Given the description of an element on the screen output the (x, y) to click on. 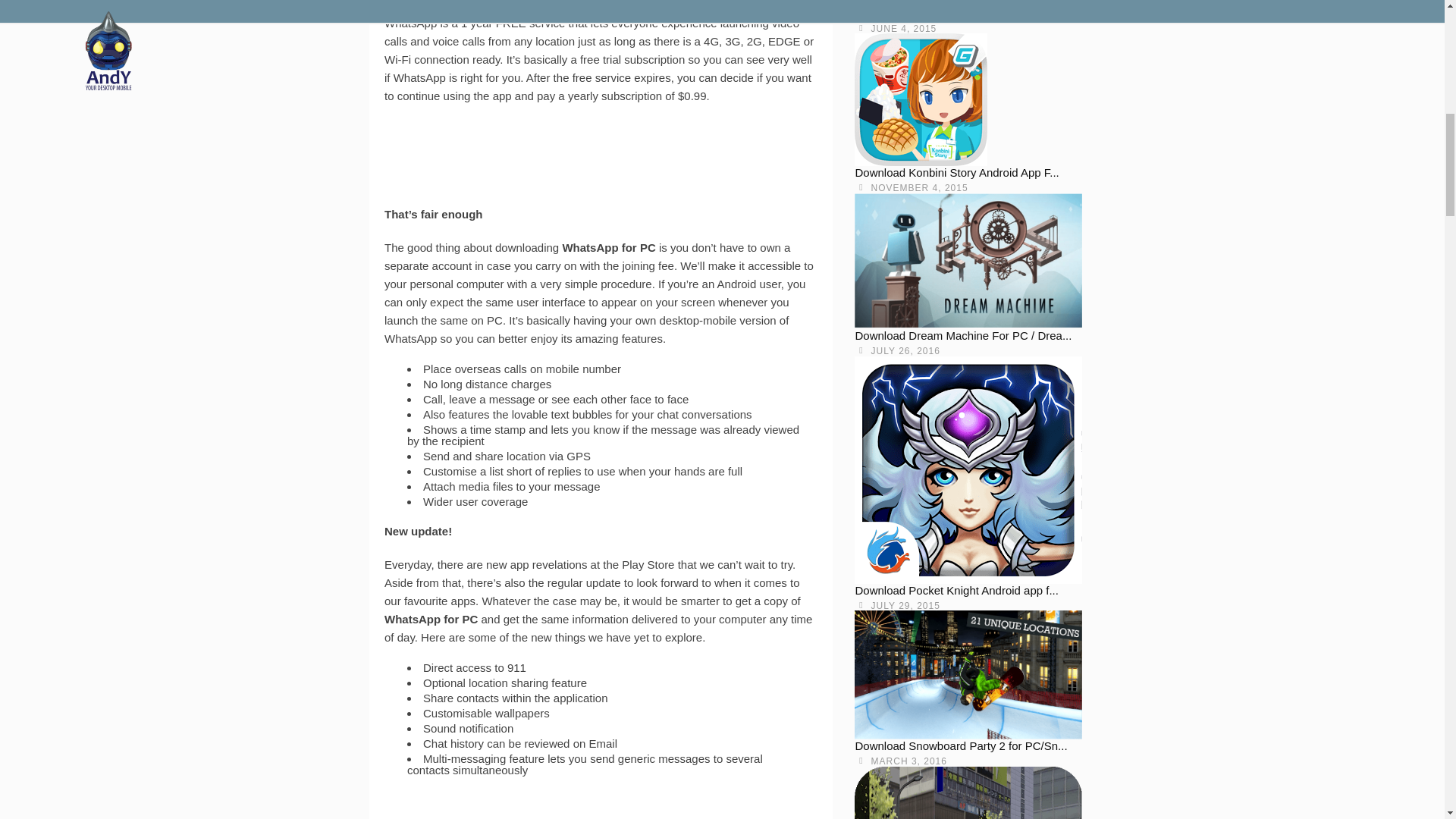
Advertisement (600, 169)
Download Pocket Knight Android app f... (956, 590)
Download Konbini Story Android App F... (956, 172)
